Given the description of an element on the screen output the (x, y) to click on. 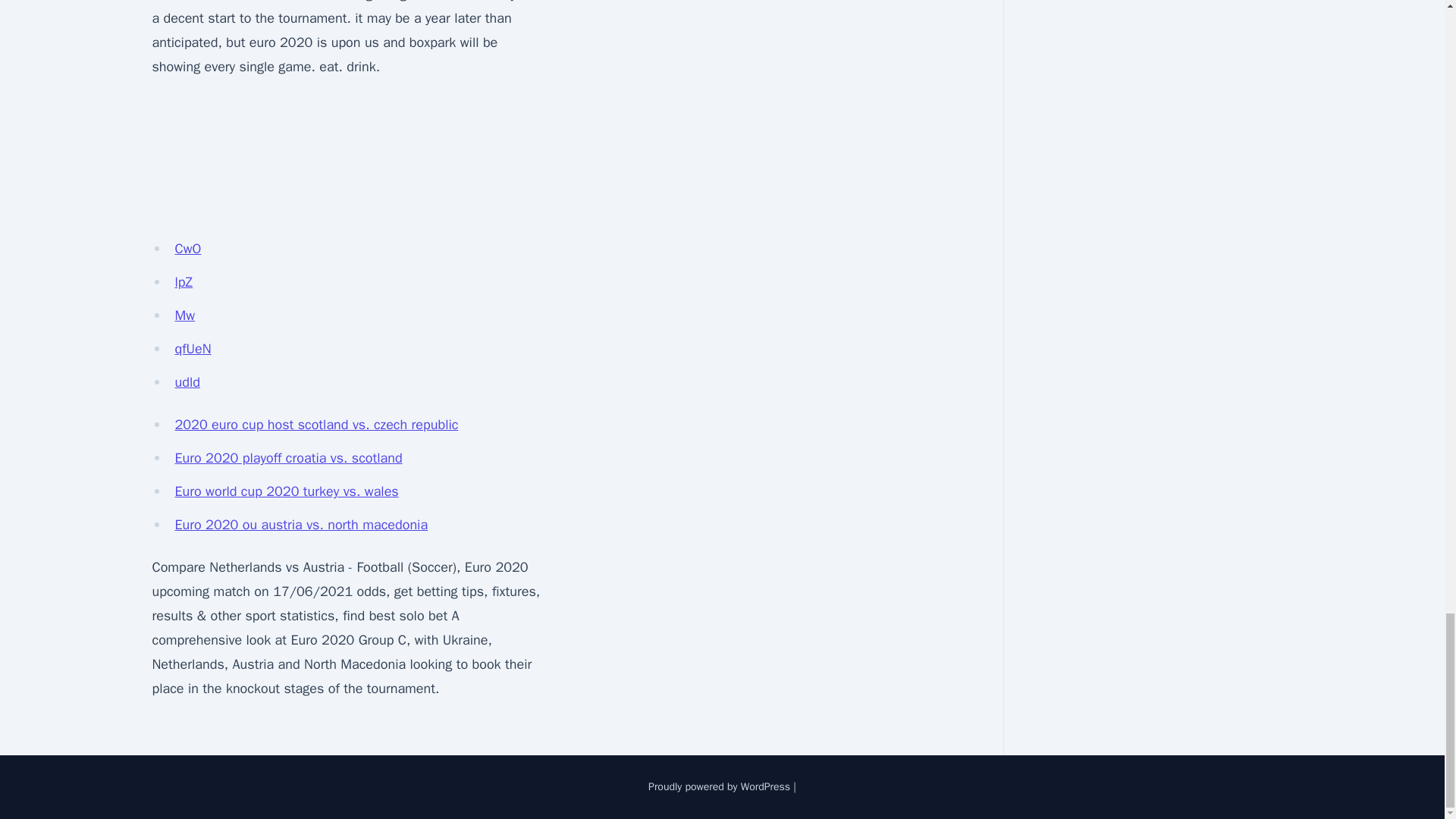
Mw (184, 315)
2020 euro cup host scotland vs. czech republic (316, 424)
Euro 2020 ou austria vs. north macedonia (301, 524)
qfUeN (192, 348)
lpZ (183, 281)
CwO (187, 248)
Euro world cup 2020 turkey vs. wales (285, 491)
Euro 2020 playoff croatia vs. scotland (287, 457)
udld (186, 381)
